Given the description of an element on the screen output the (x, y) to click on. 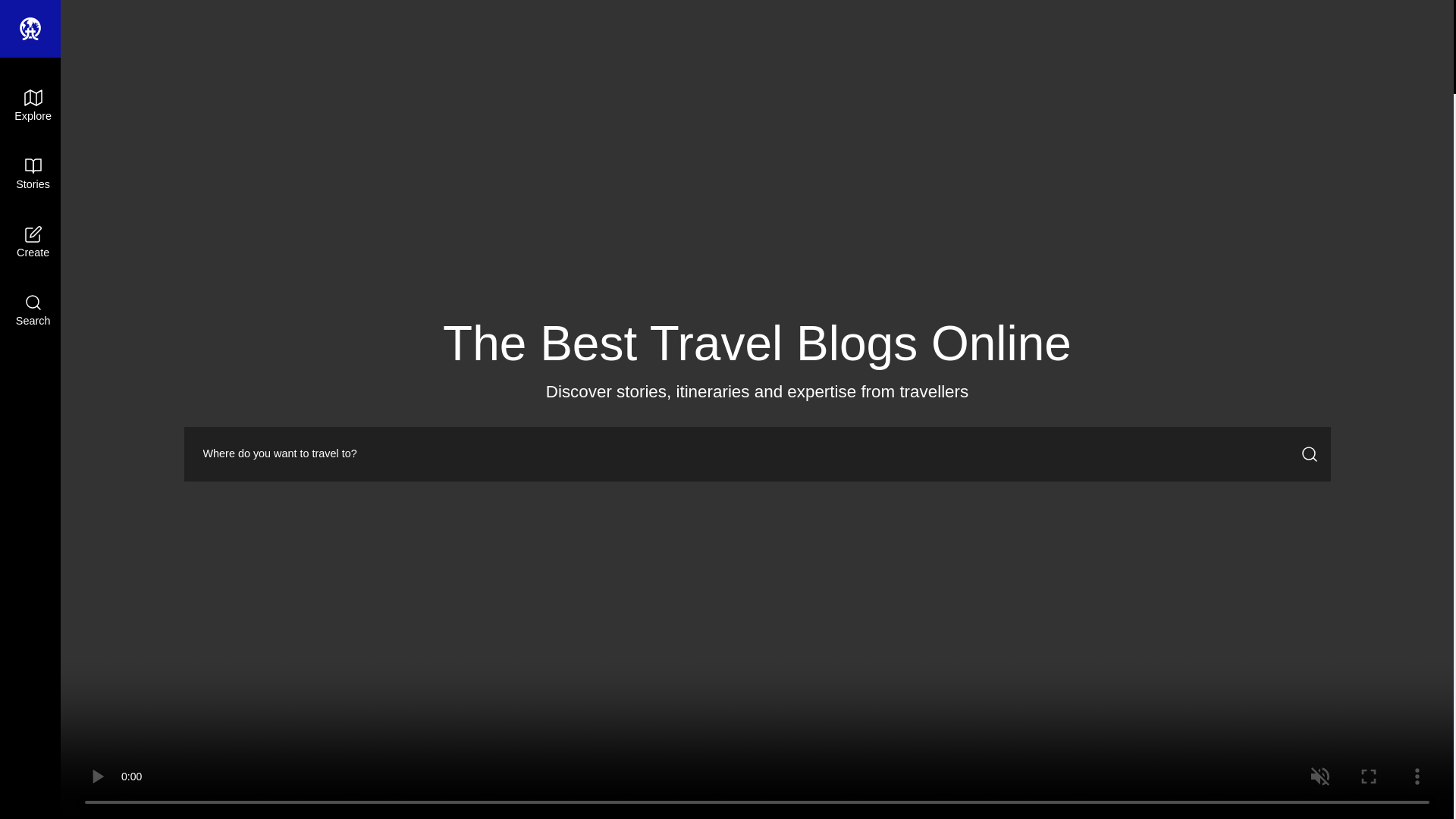
Stories (33, 175)
Search (33, 311)
Search (33, 311)
Explore (33, 106)
Explore (33, 106)
Search (140, 508)
Stories (33, 175)
Create (33, 243)
Create (33, 243)
